Given the description of an element on the screen output the (x, y) to click on. 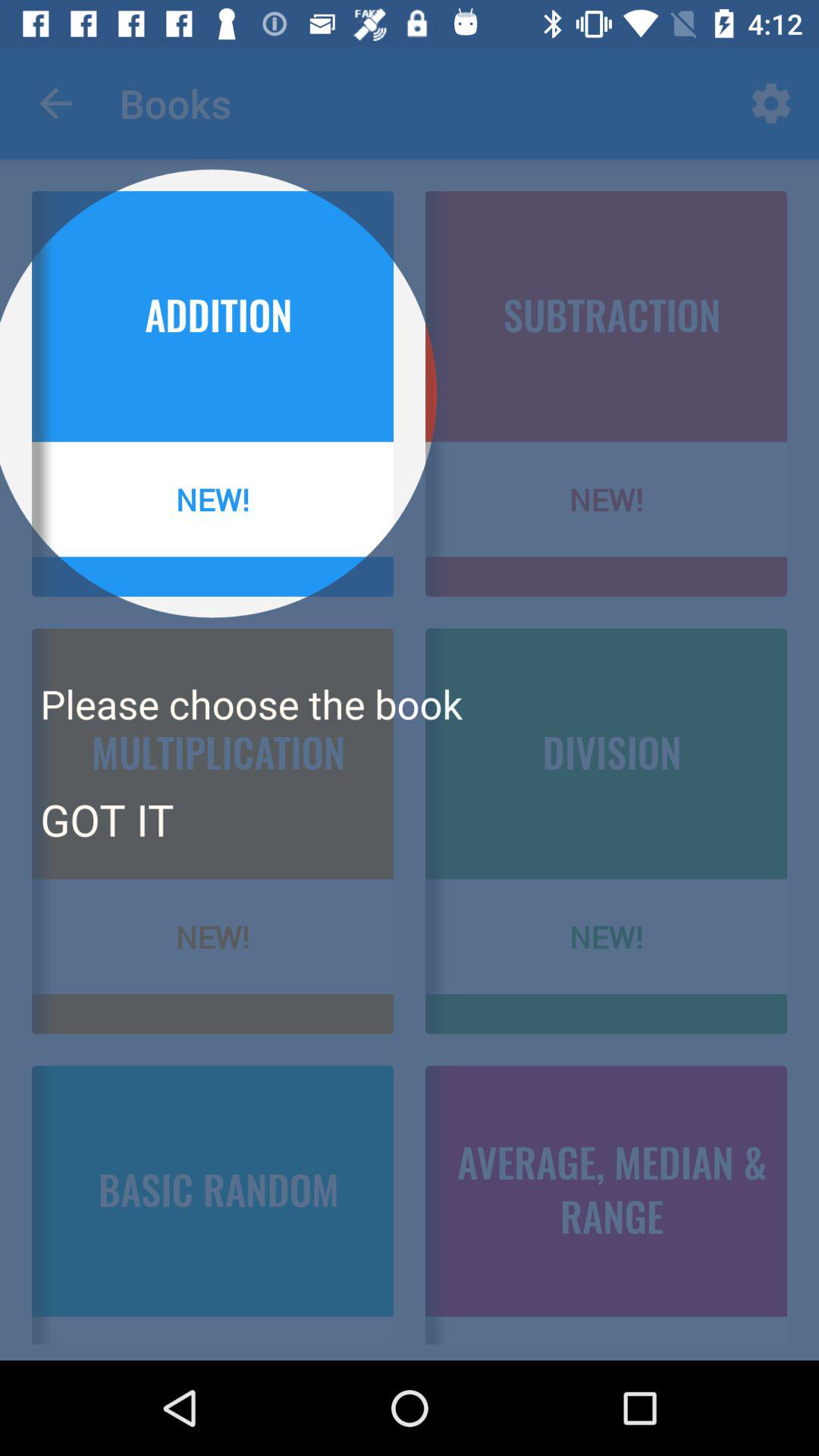
choose the got it icon (107, 819)
